Given the description of an element on the screen output the (x, y) to click on. 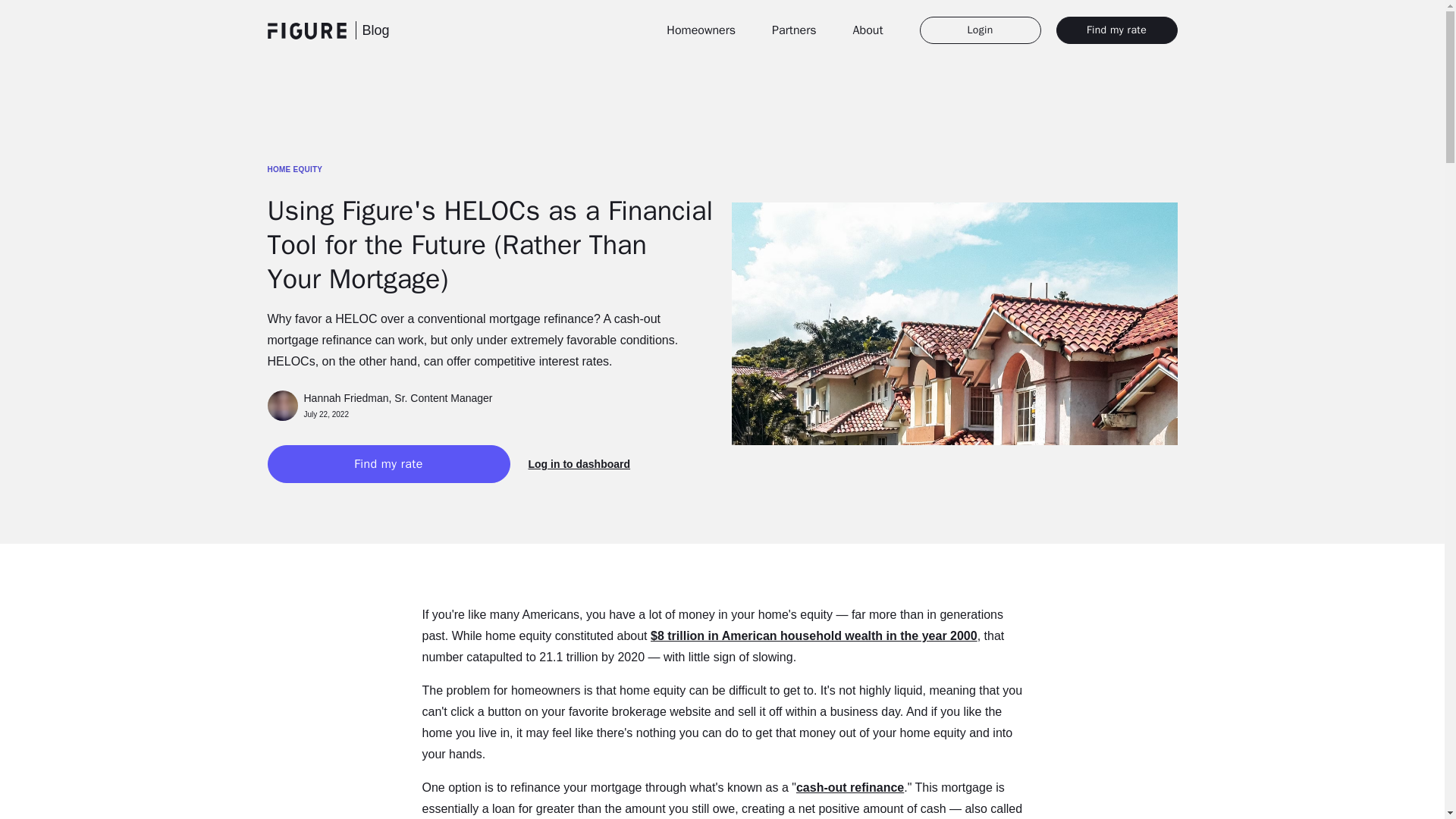
cash-out refinance (489, 169)
Homeowners (850, 787)
Partners (397, 397)
About (700, 29)
Log in to dashboard (793, 29)
Blog (868, 29)
Find my rate (578, 463)
